Given the description of an element on the screen output the (x, y) to click on. 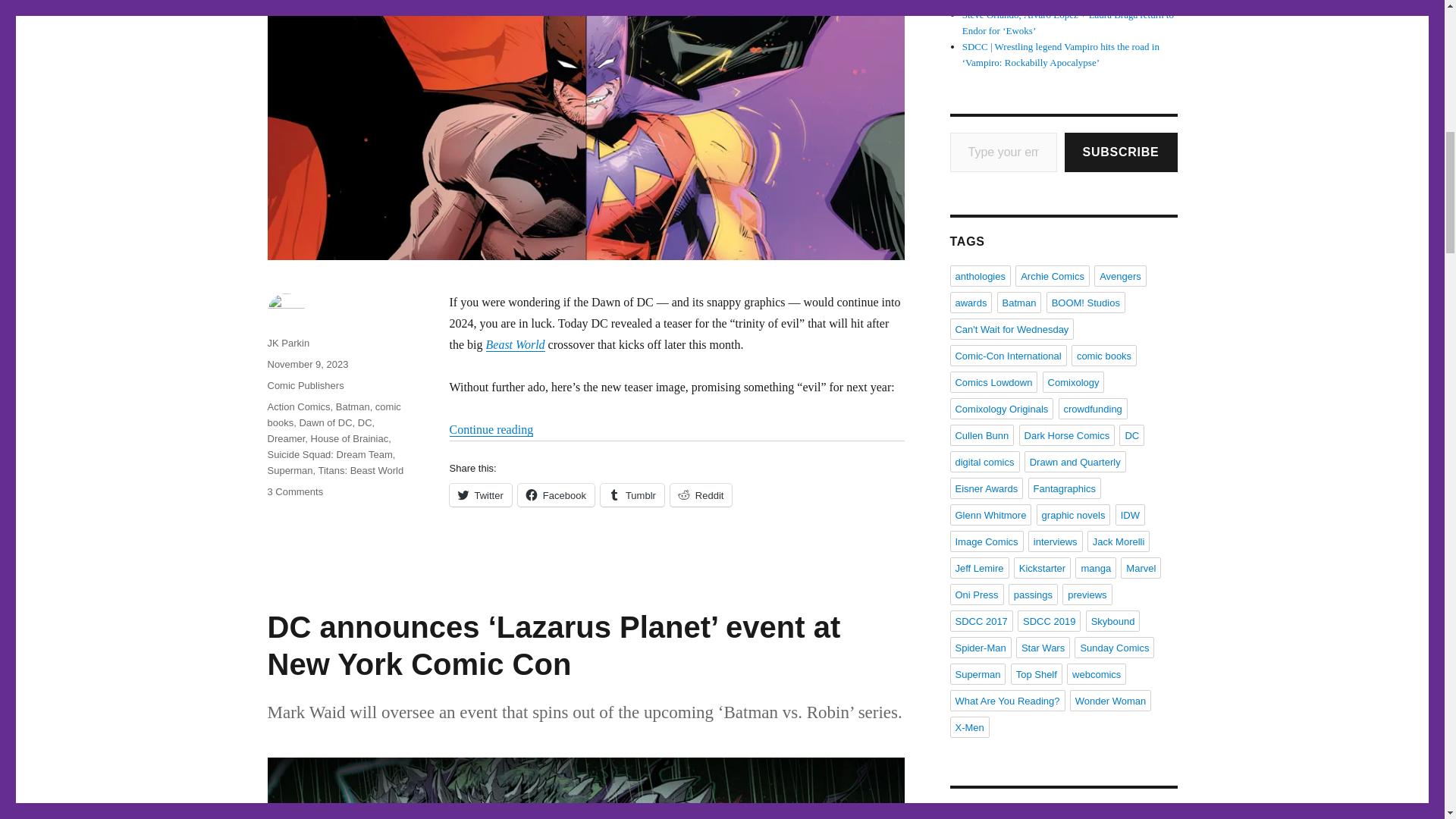
Click to share on Reddit (700, 495)
Click to share on Twitter (479, 495)
November 9, 2023 (306, 364)
Superman (289, 470)
House of Brainiac (349, 438)
Titans: Beast World (360, 470)
Facebook (556, 495)
Tumblr (631, 495)
Suicide Squad: Dream Team (328, 454)
JK Parkin (287, 342)
Twitter (479, 495)
Click to share on Tumblr (631, 495)
comic books (333, 414)
DC (365, 422)
Reddit (700, 495)
